Given the description of an element on the screen output the (x, y) to click on. 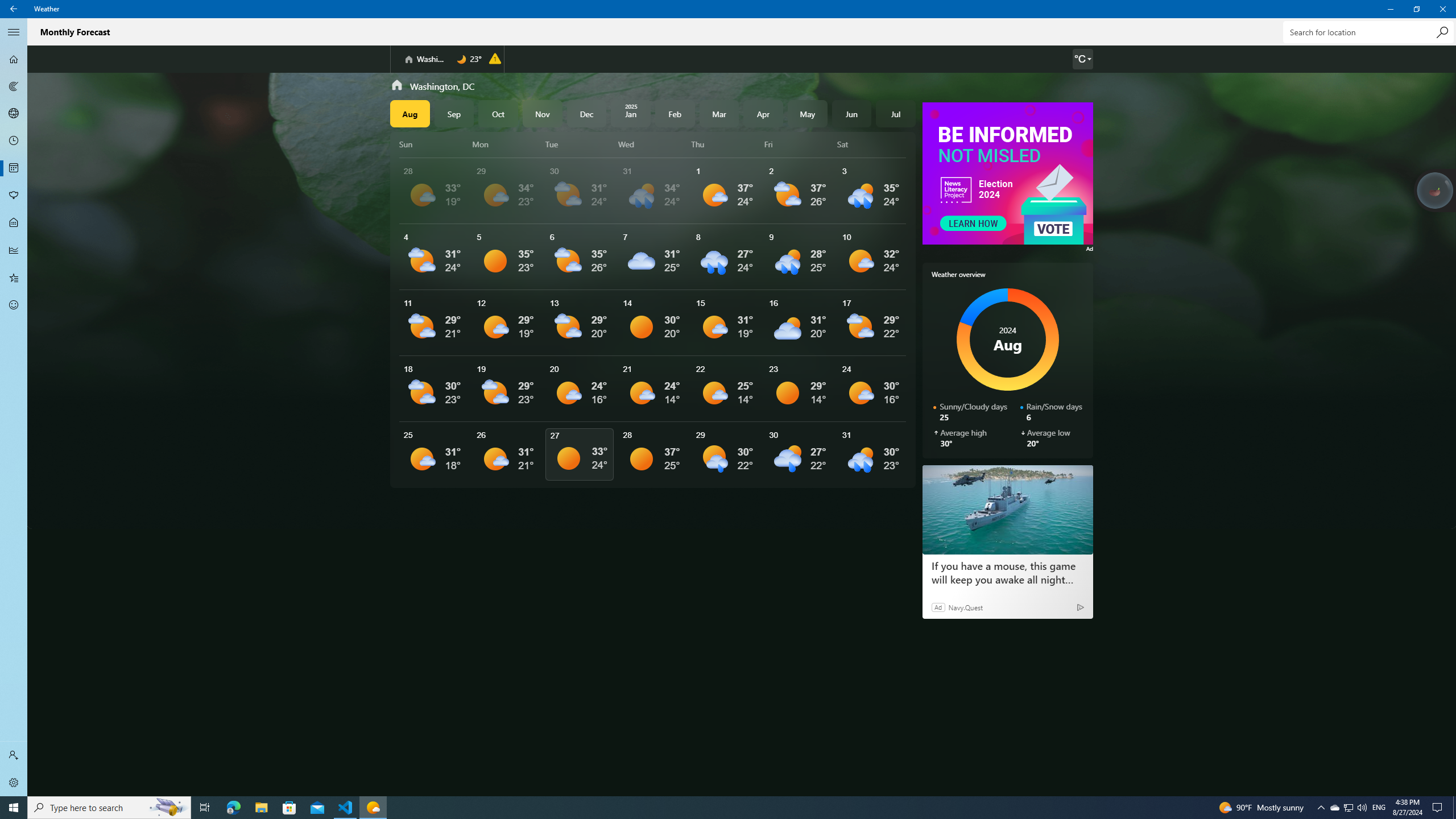
Monthly Forecast - Not Selected (13, 167)
Microsoft Edge (233, 807)
File Explorer (261, 807)
Favorites - Not Selected (13, 277)
Forecast - Not Selected (13, 58)
Send Feedback - Not Selected (1347, 807)
Collapse Navigation (13, 304)
Notification Chevron (13, 31)
3D Maps - Not Selected (1320, 807)
Life - Not Selected (13, 113)
